Given the description of an element on the screen output the (x, y) to click on. 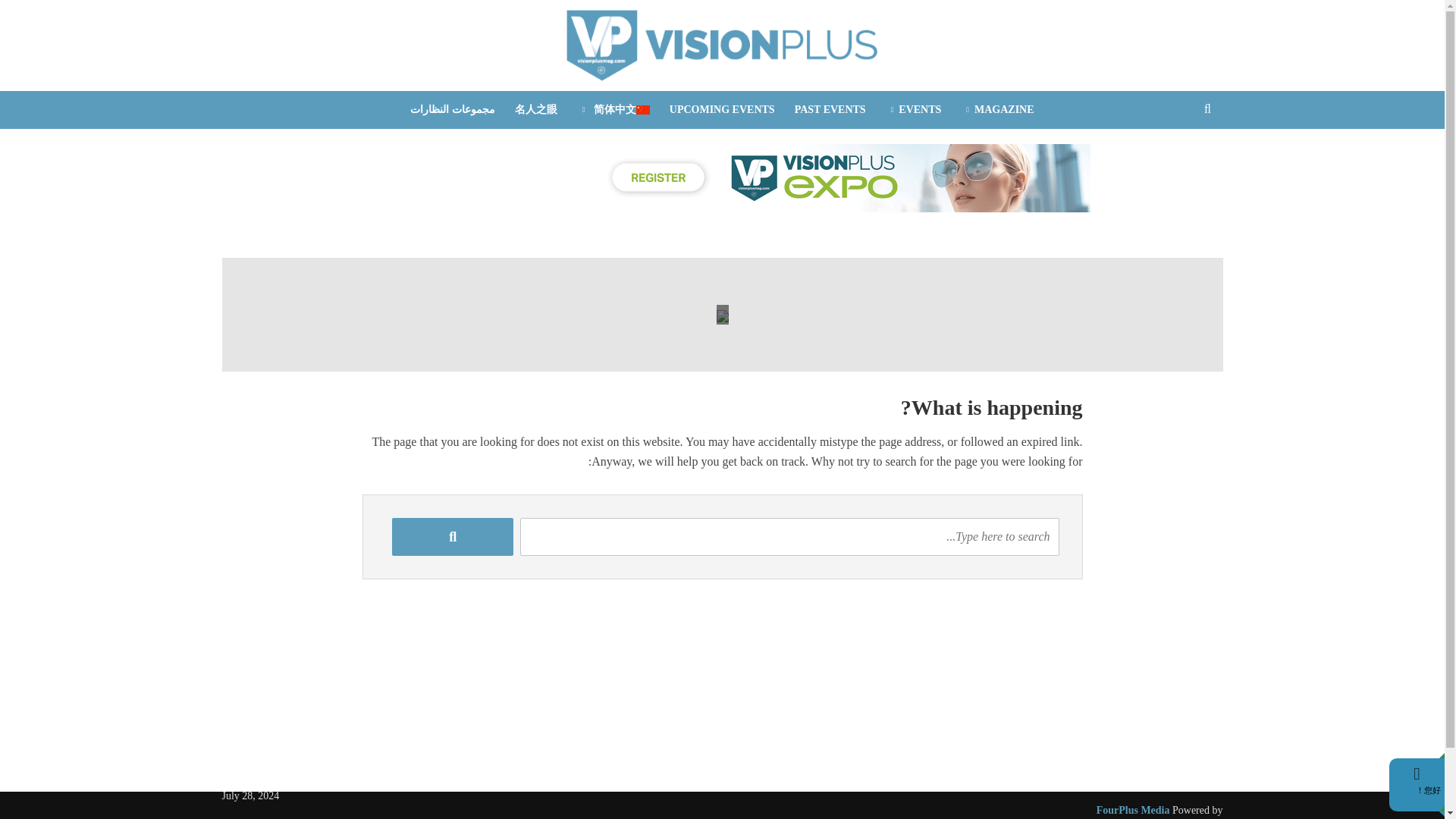
PAST EVENTS (830, 109)
EVENTS (914, 109)
MAGAZINE (996, 109)
UPCOMING EVENTS (721, 109)
